Given the description of an element on the screen output the (x, y) to click on. 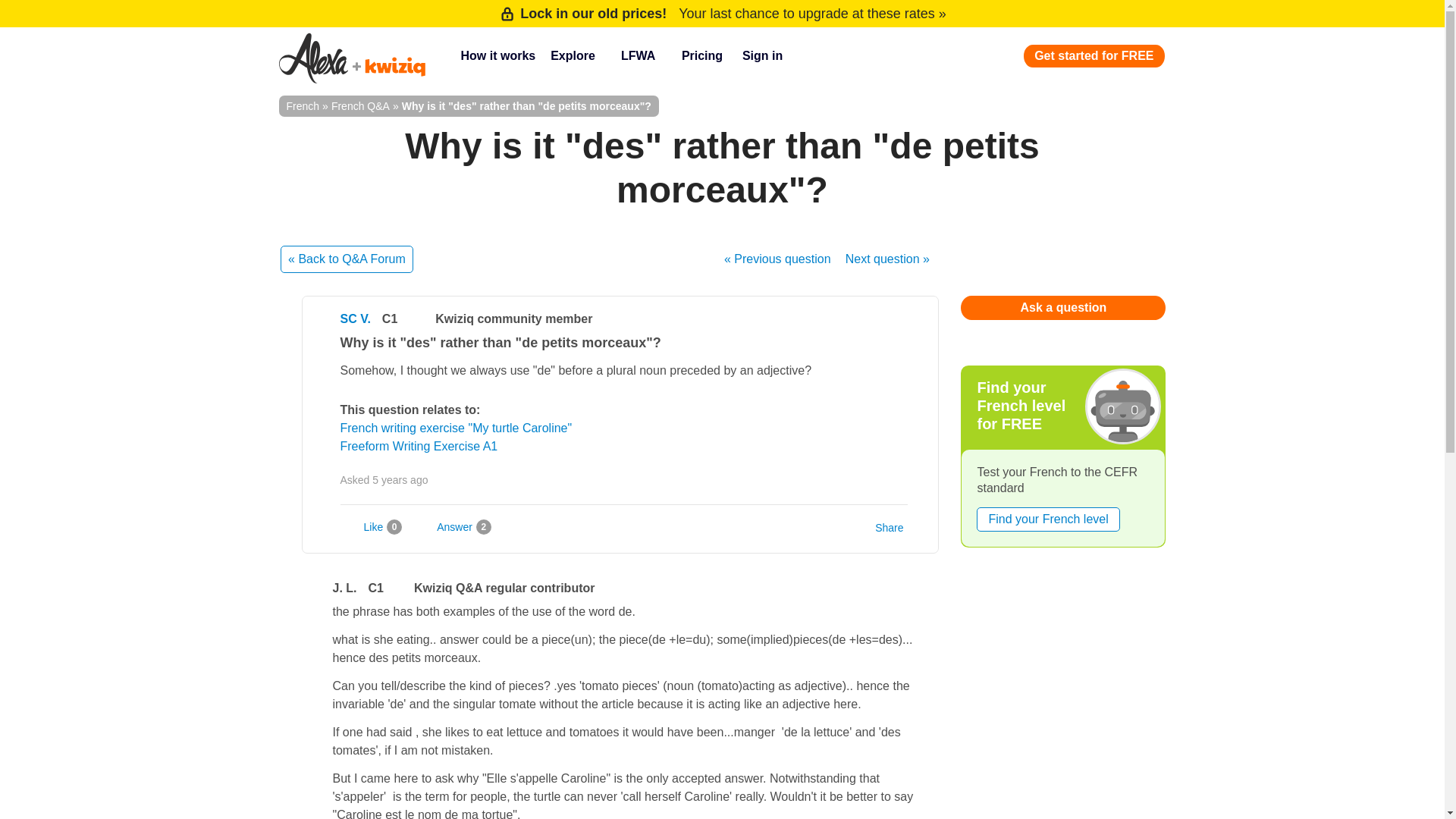
How it works (497, 56)
23rd May 2019 (400, 480)
LFWA (643, 56)
Explore (577, 56)
